Given the description of an element on the screen output the (x, y) to click on. 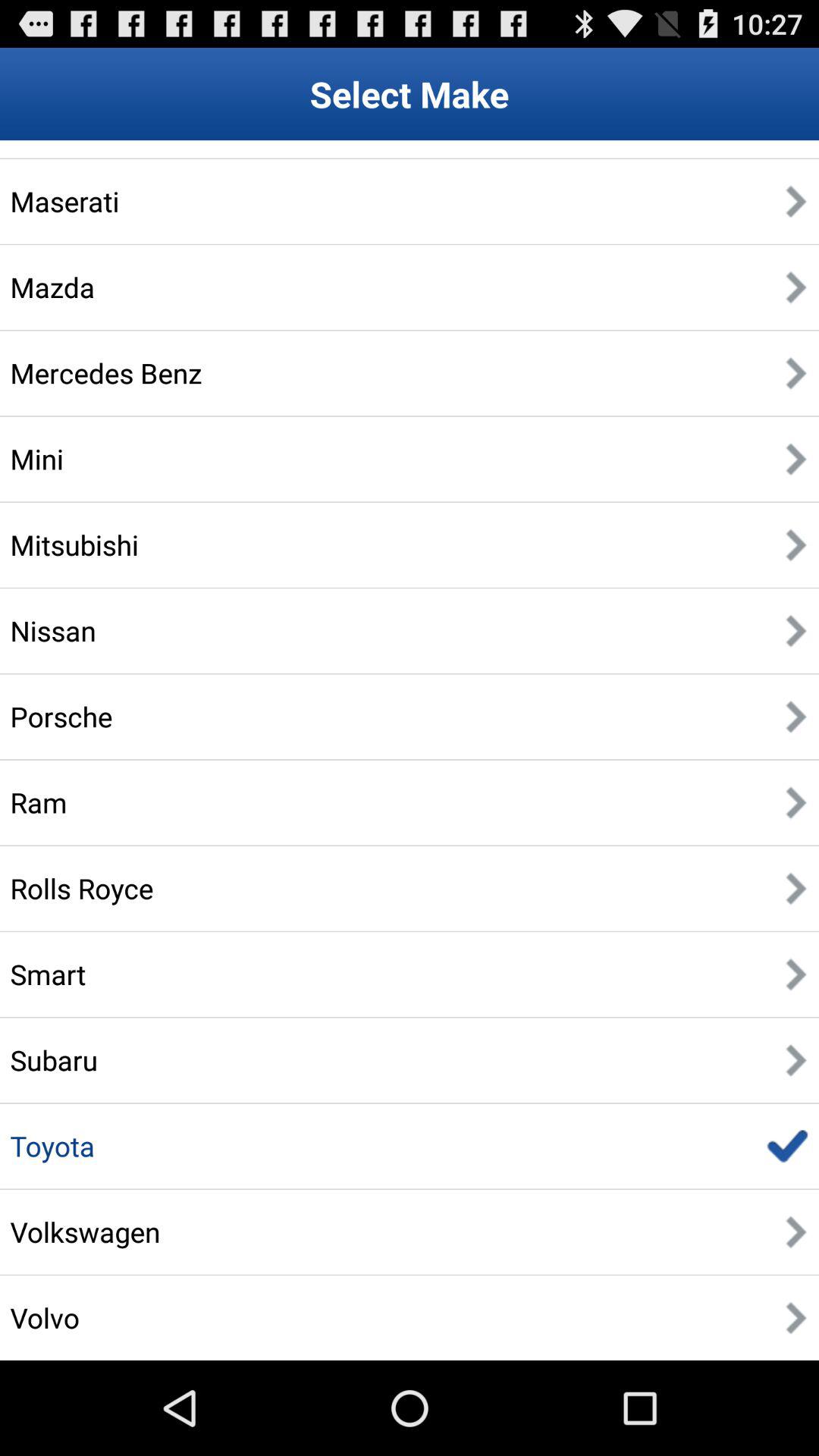
tap the mazda (52, 286)
